Given the description of an element on the screen output the (x, y) to click on. 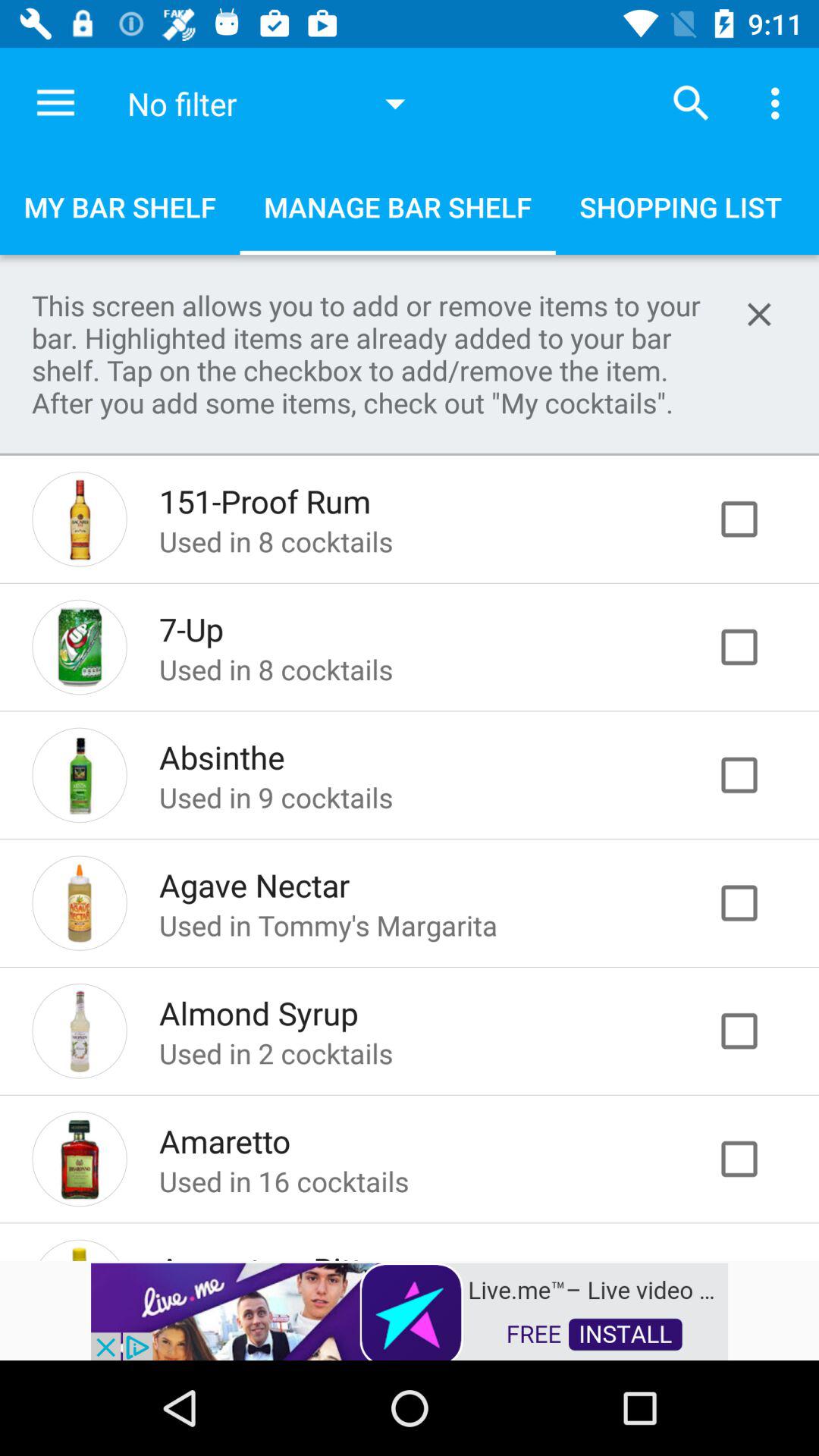
close help (759, 314)
